Given the description of an element on the screen output the (x, y) to click on. 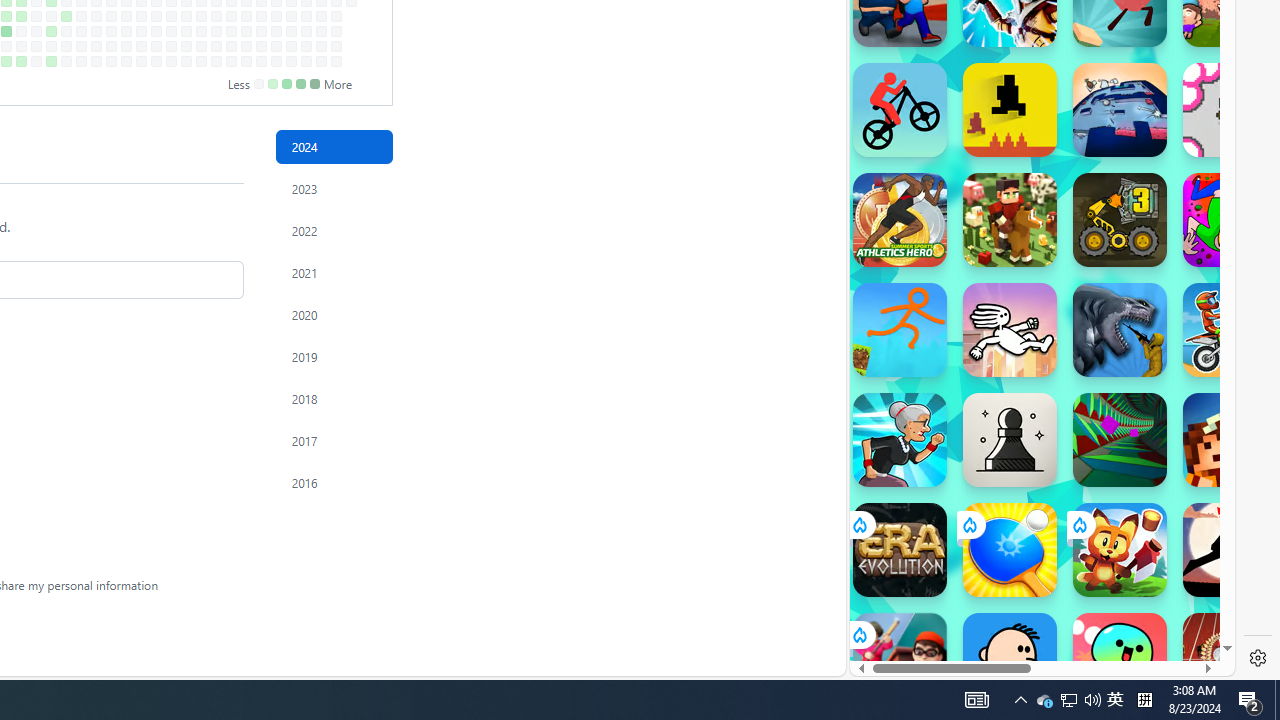
No contributions on October 10th. (171, 30)
Sharkosaurus Rampage Sharkosaurus Rampage (1119, 329)
No contributions on September 11th. (111, 16)
No contributions on December 19th. (321, 30)
Level Devil (1009, 109)
No contributions on August 7th. (36, 16)
No contributions on December 25th. (336, 16)
Combat Reloaded Combat Reloaded poki.com (1092, 245)
2019 (333, 356)
Level Devil Level Devil (1009, 109)
Contribution activity in 2024 (333, 147)
No contributions on August 16th. (51, 46)
The Speed Ninja The Speed Ninja (1229, 549)
No contributions on September 25th. (141, 16)
No contributions on August 14th. (51, 16)
